Given the description of an element on the screen output the (x, y) to click on. 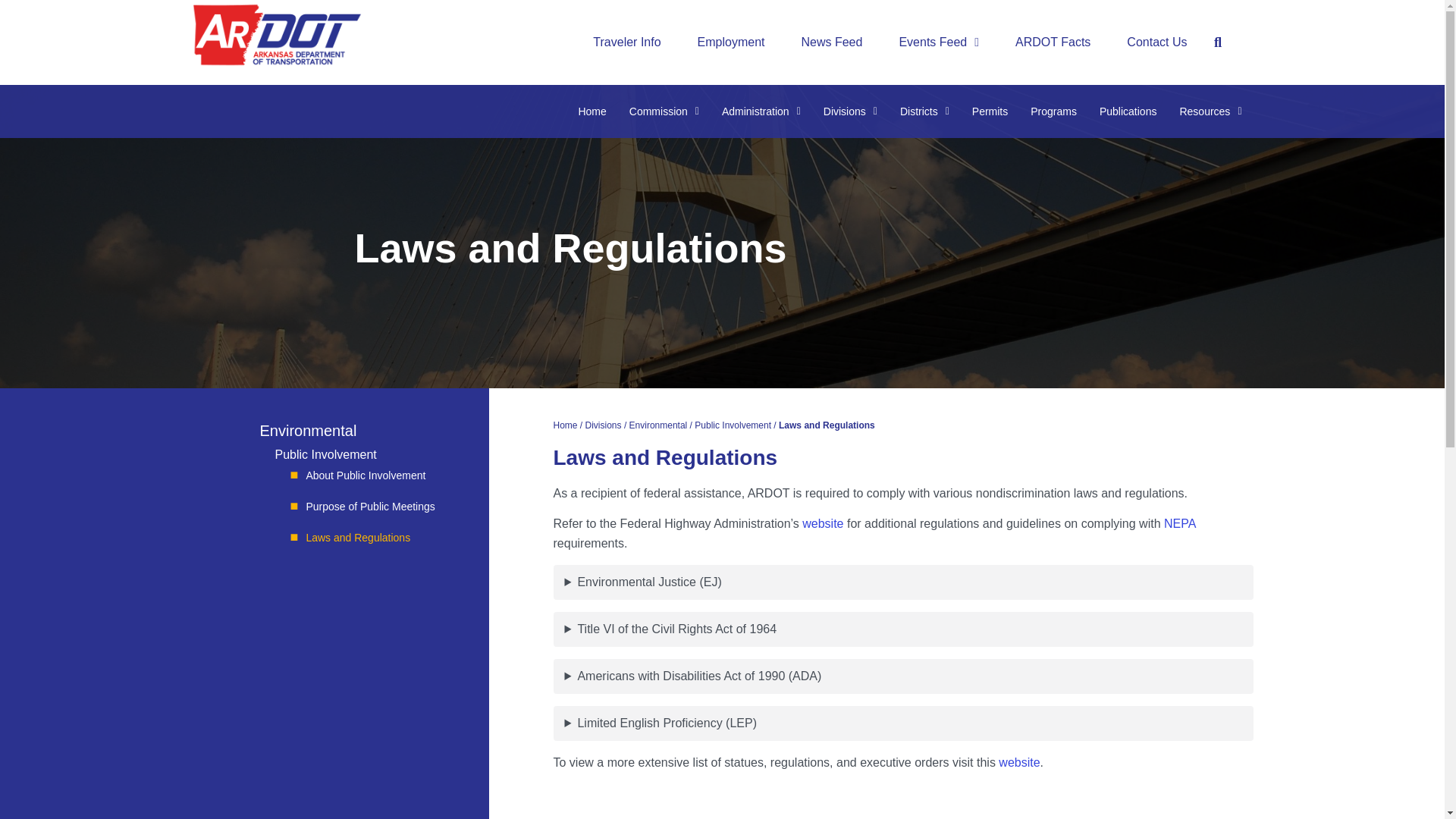
Commission (663, 111)
ARDOT Facts (1052, 42)
Contact Us (1156, 42)
Employment (731, 42)
News Feed (831, 42)
Home (591, 111)
Events Feed (938, 42)
Traveler Info (626, 42)
